Given the description of an element on the screen output the (x, y) to click on. 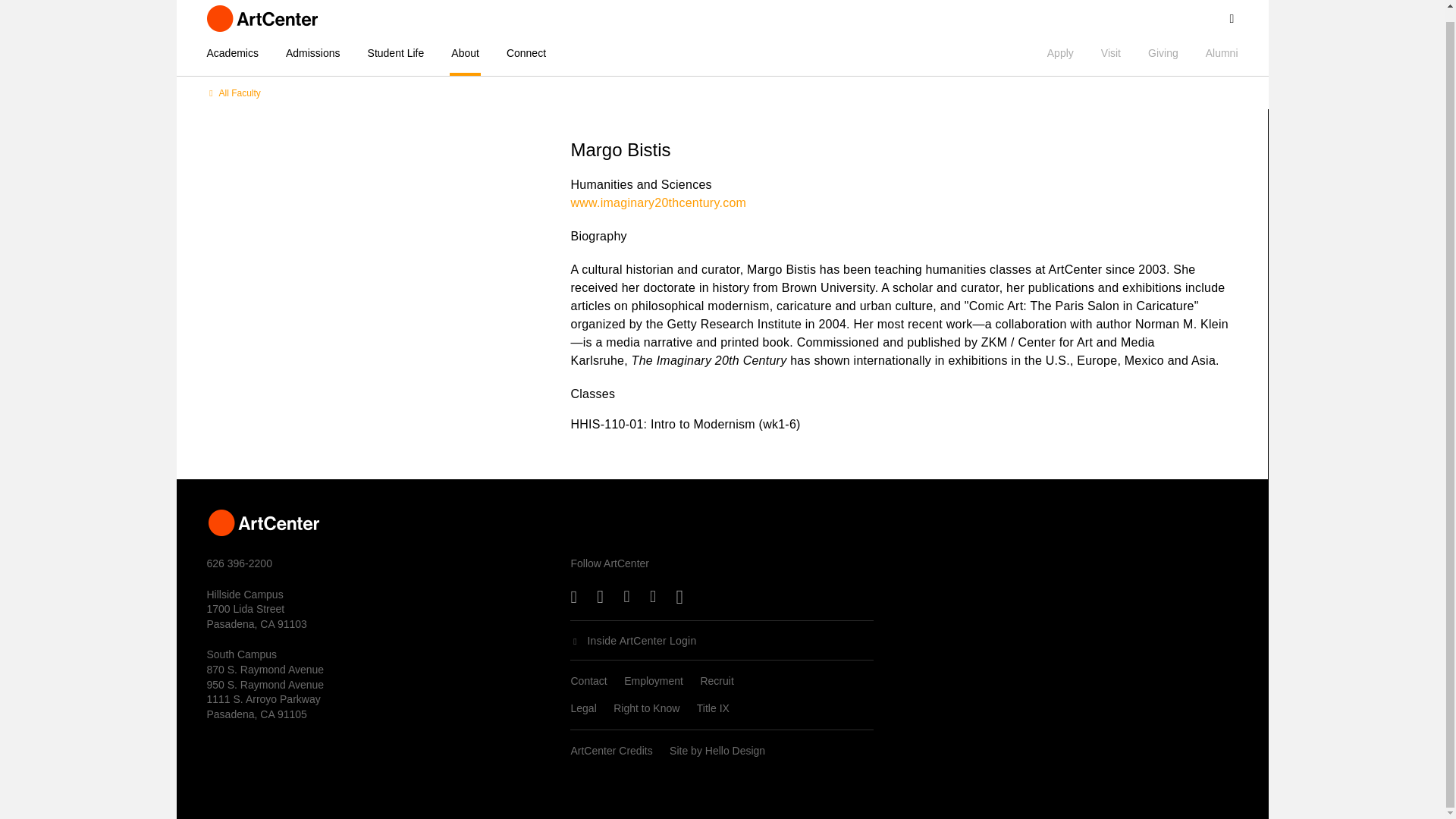
Academics (238, 53)
